Given the description of an element on the screen output the (x, y) to click on. 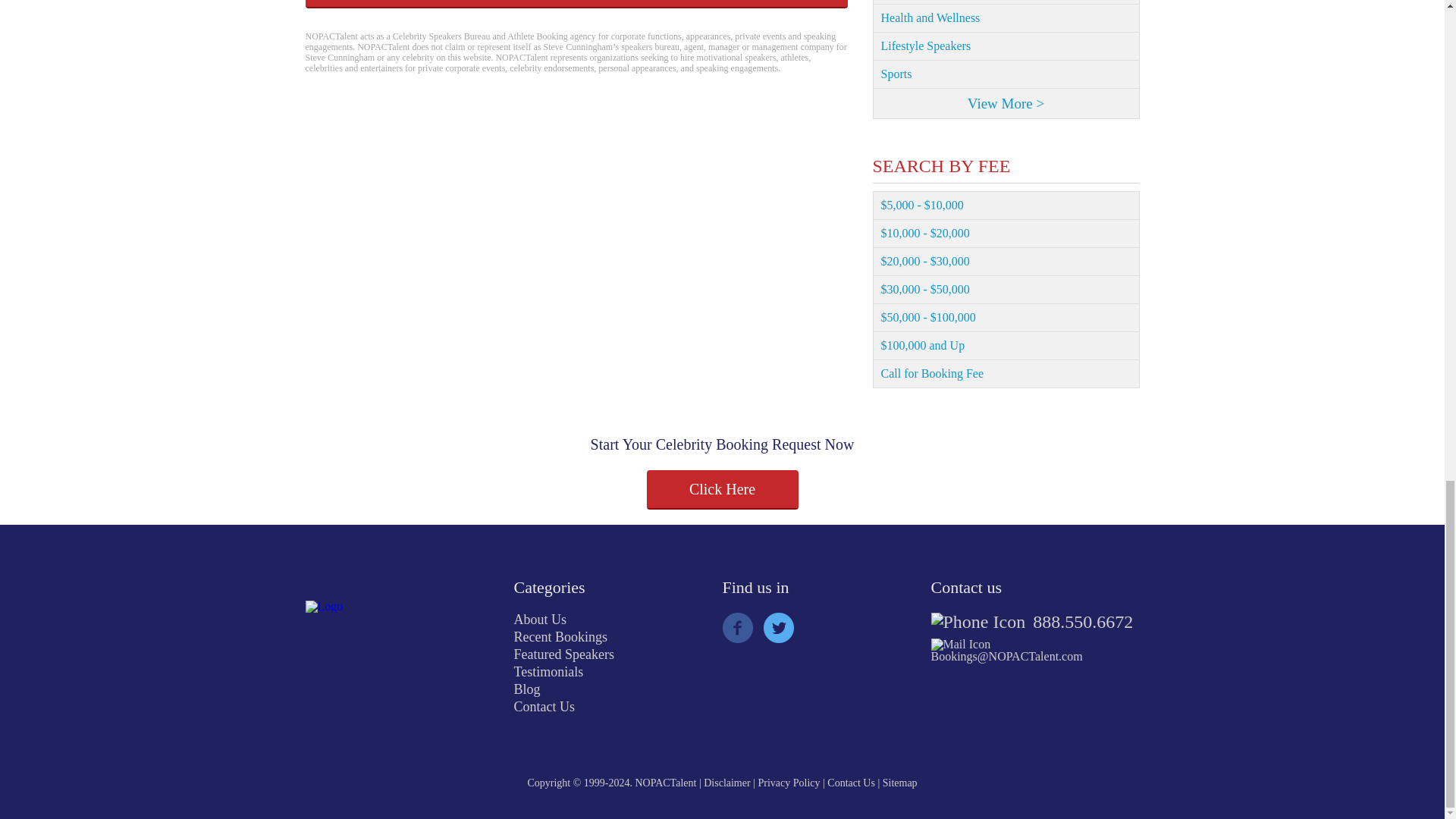
Sports (1005, 74)
Book Steve Cunningham for Your Next Event (575, 4)
Entertainment (1005, 2)
Health and Wellness (1005, 18)
Lifestyle Speakers (1005, 46)
